Given the description of an element on the screen output the (x, y) to click on. 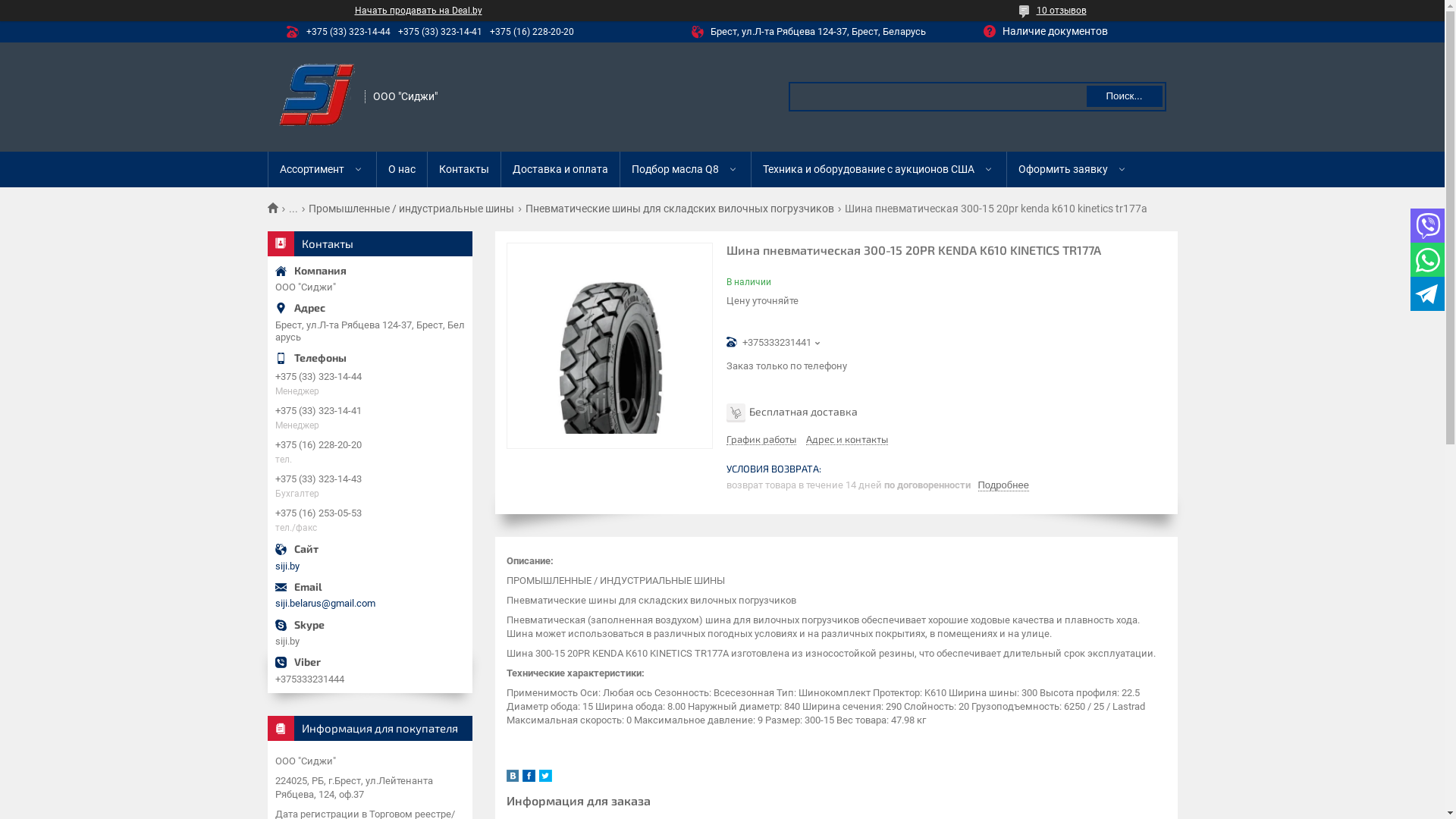
twitter Element type: hover (544, 778)
siji.belarus@gmail.com Element type: text (369, 603)
facebook Element type: hover (527, 778)
siji.by Element type: text (369, 566)
